Given the description of an element on the screen output the (x, y) to click on. 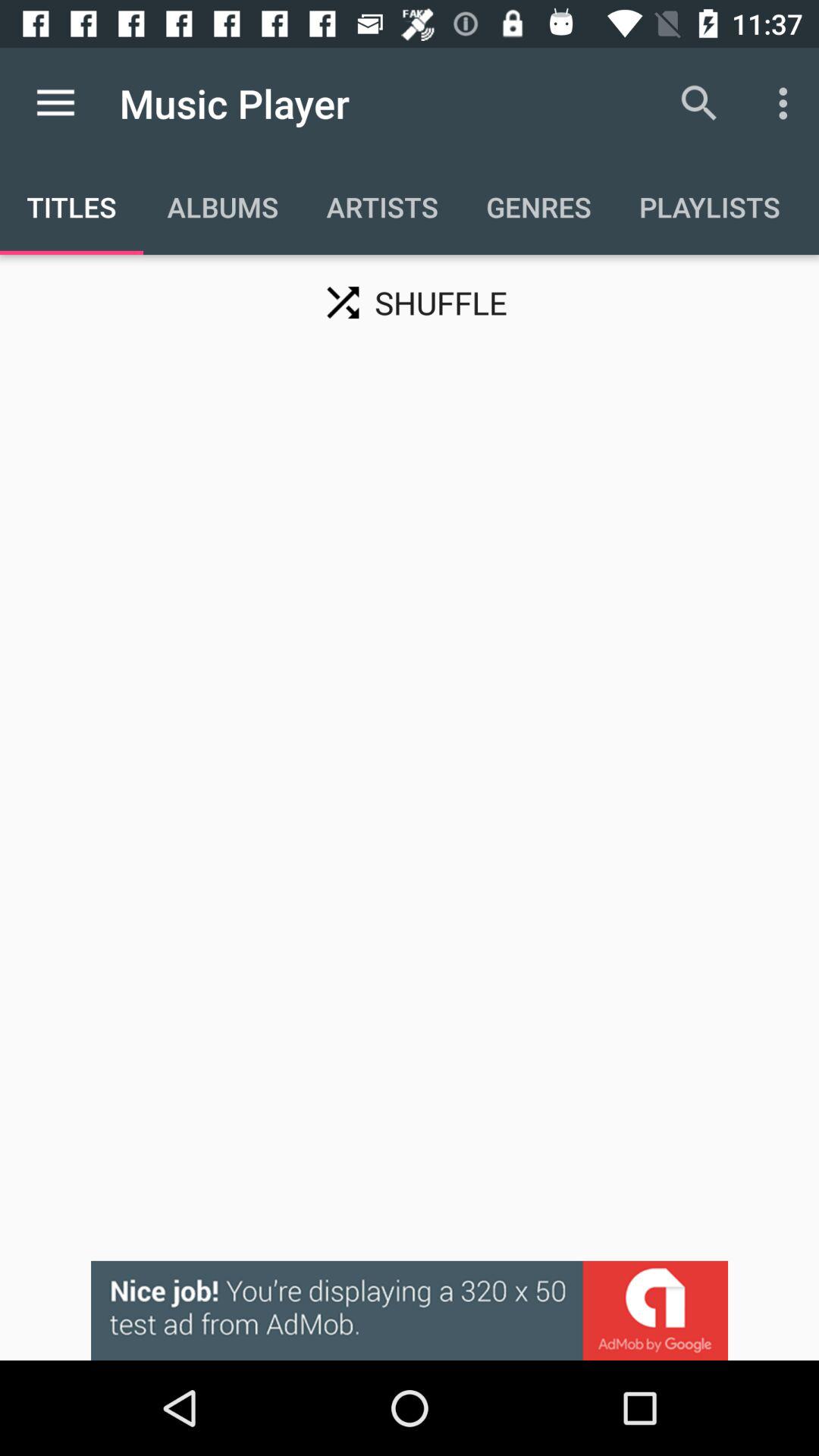
advertisement (409, 1310)
